Given the description of an element on the screen output the (x, y) to click on. 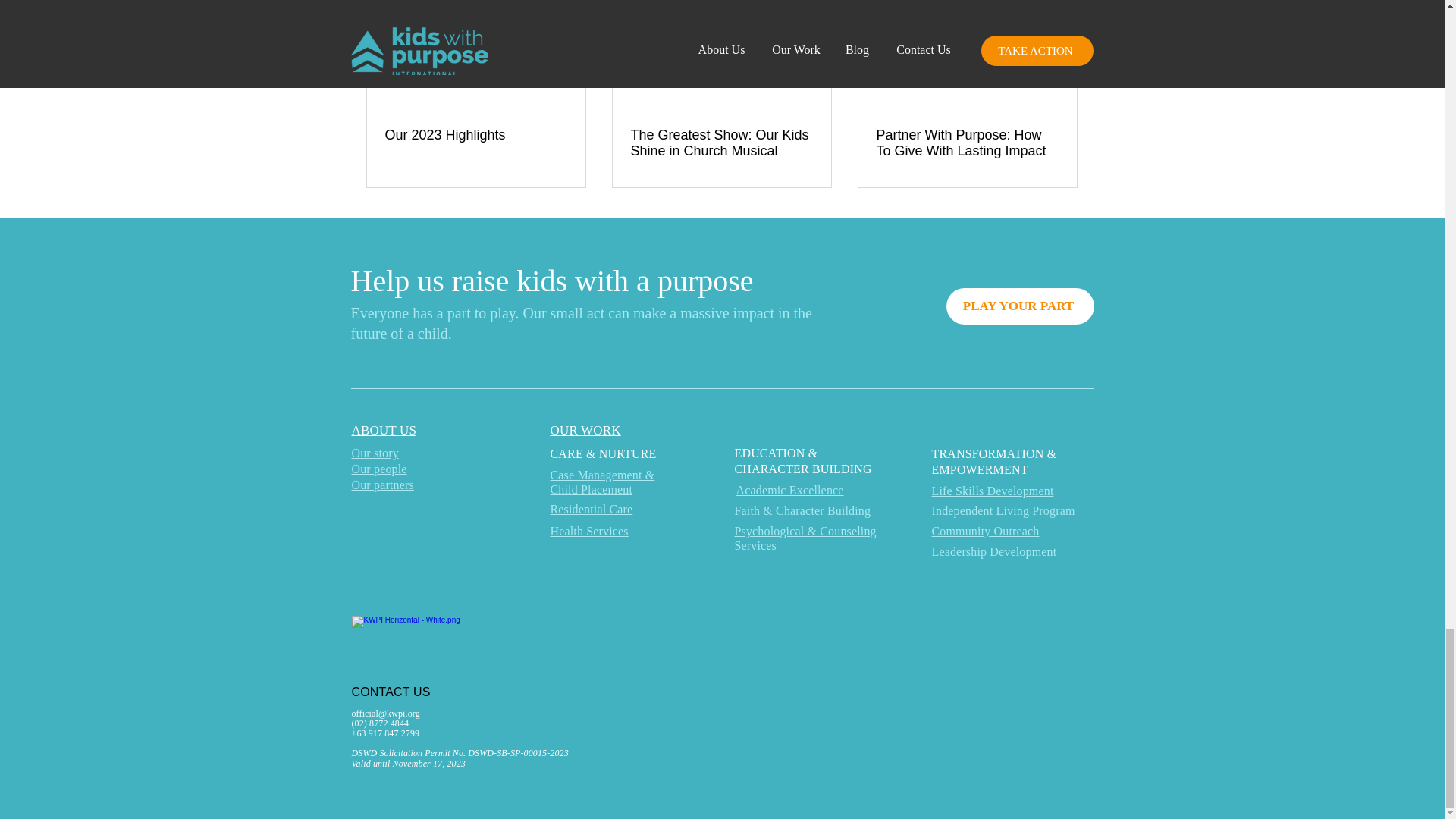
Our people (379, 468)
OUR WORK (585, 430)
Partner With Purpose: How To Give With Lasting Impact (967, 142)
Our partners (382, 484)
ABOUT US (384, 430)
Our story (375, 452)
The Greatest Show: Our Kids Shine in Church Musical (721, 142)
Health Services (589, 530)
Residential Care (591, 508)
PLAY YOUR PART (1020, 306)
Our 2023 Highlights (476, 135)
Academic Excellence (789, 490)
